Given the description of an element on the screen output the (x, y) to click on. 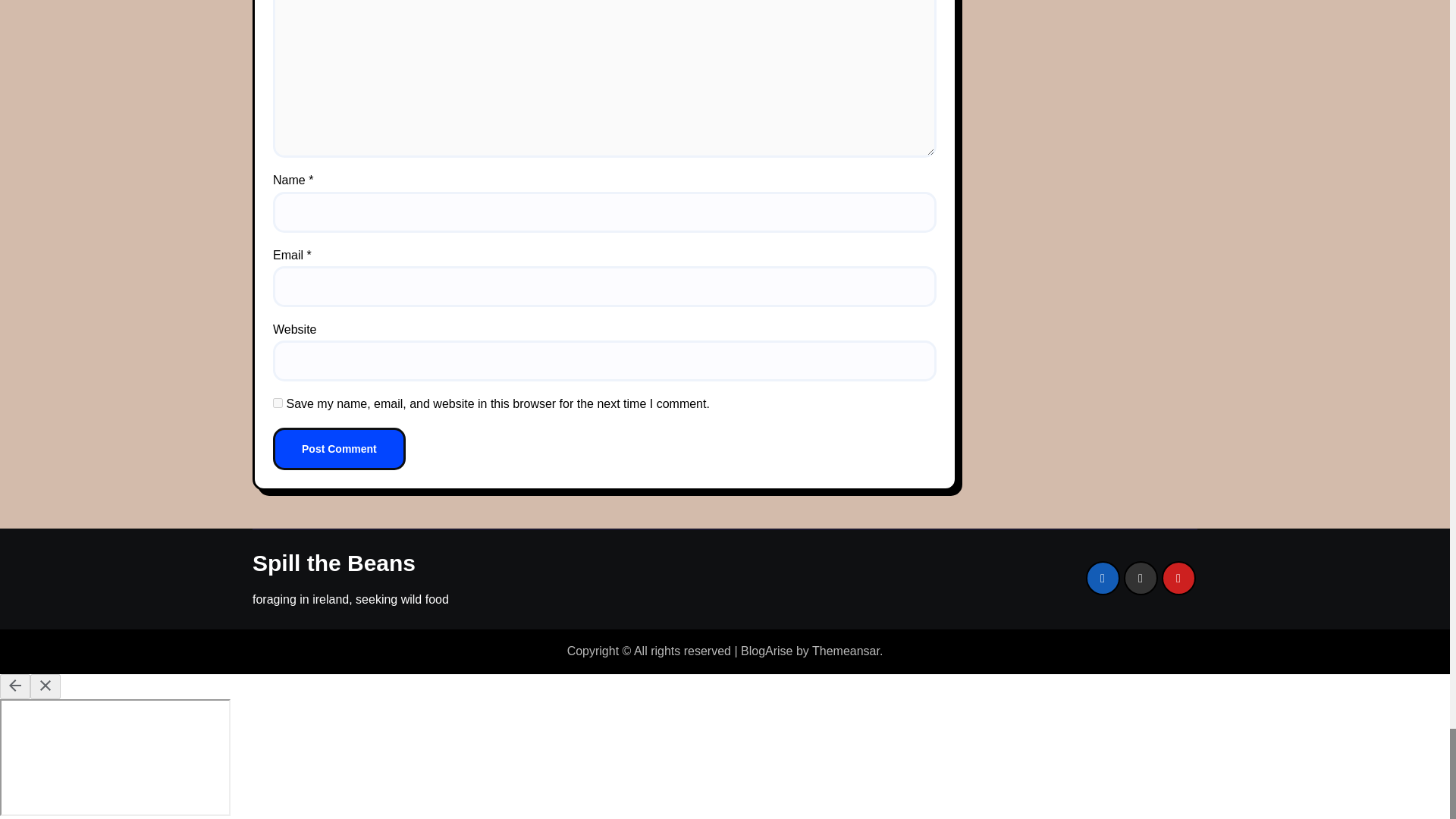
yes (277, 402)
Post Comment (339, 448)
